Given the description of an element on the screen output the (x, y) to click on. 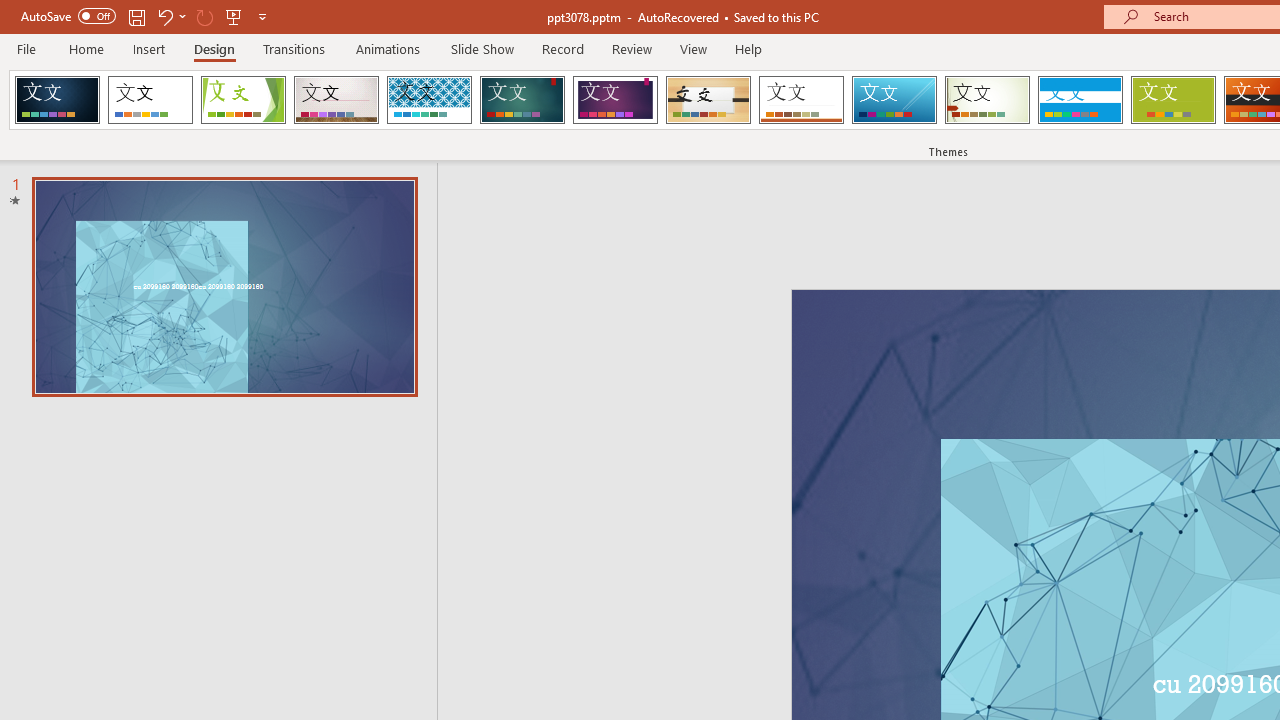
Basis (1172, 100)
Organic (708, 100)
